Given the description of an element on the screen output the (x, y) to click on. 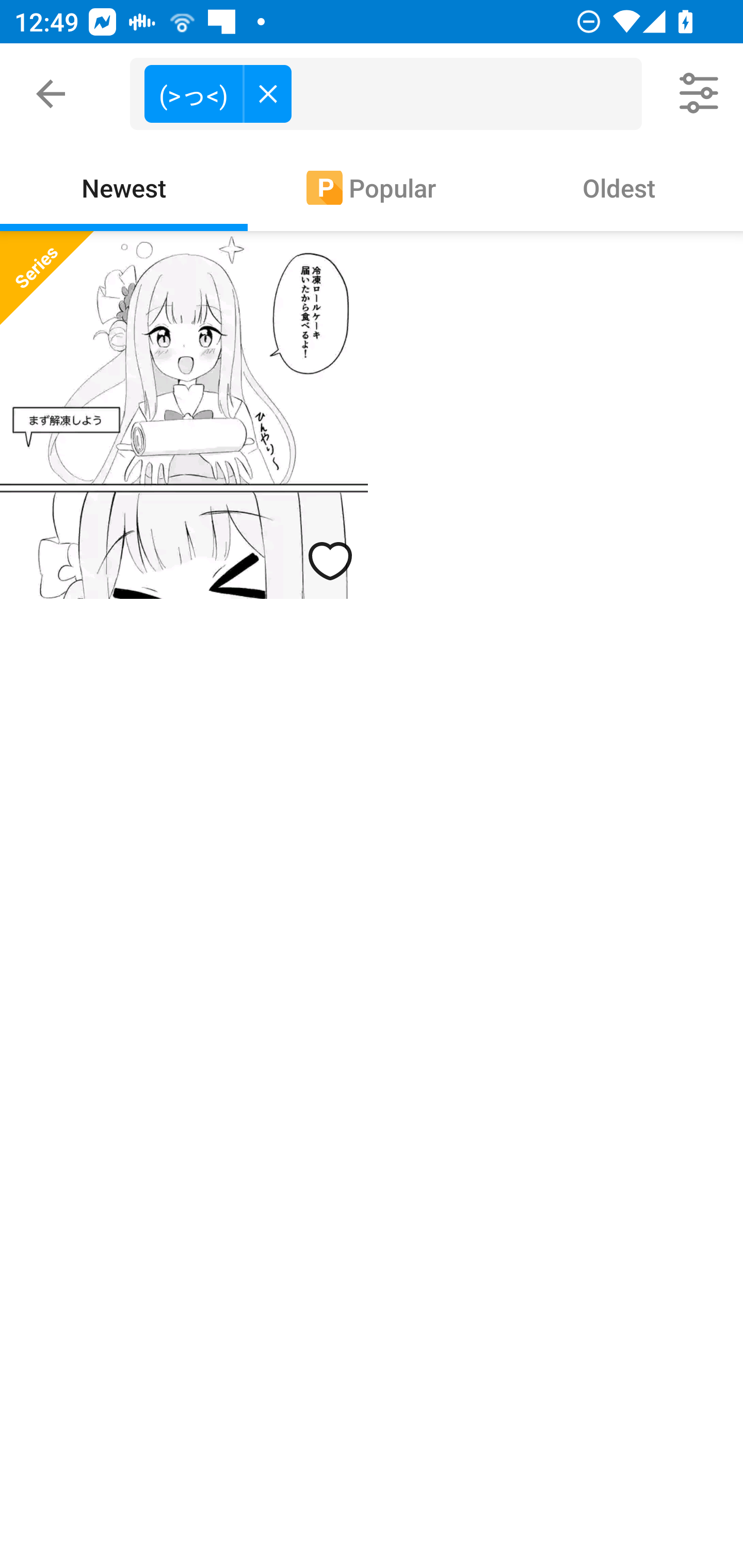
Navigate up (50, 93)
Filters (699, 93)
(>っ<) (217, 93)
[P] Popular (371, 187)
Oldest (619, 187)
Series (183, 414)
Series (46, 277)
